Given the description of an element on the screen output the (x, y) to click on. 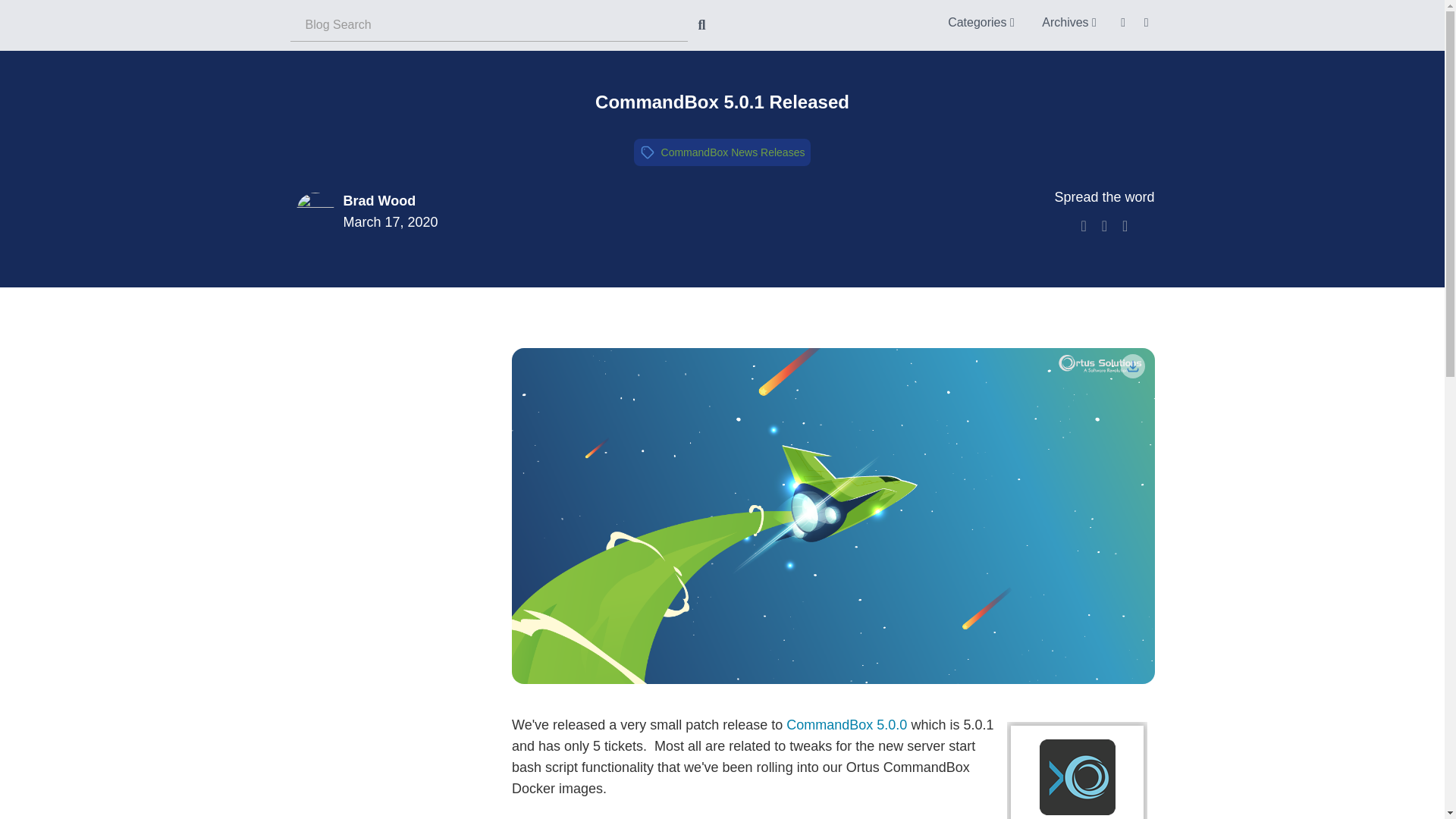
News (743, 151)
Filter entries by 'News' (743, 151)
CommandBox 5.0.1 Released (722, 101)
Categories (981, 21)
Filter entries by 'CommandBox' (695, 151)
Download (1132, 365)
Releases (782, 151)
Archives (1068, 21)
CommandBox 5.0.1 Released (722, 101)
CommandBox 5.0.0 (846, 724)
